Given the description of an element on the screen output the (x, y) to click on. 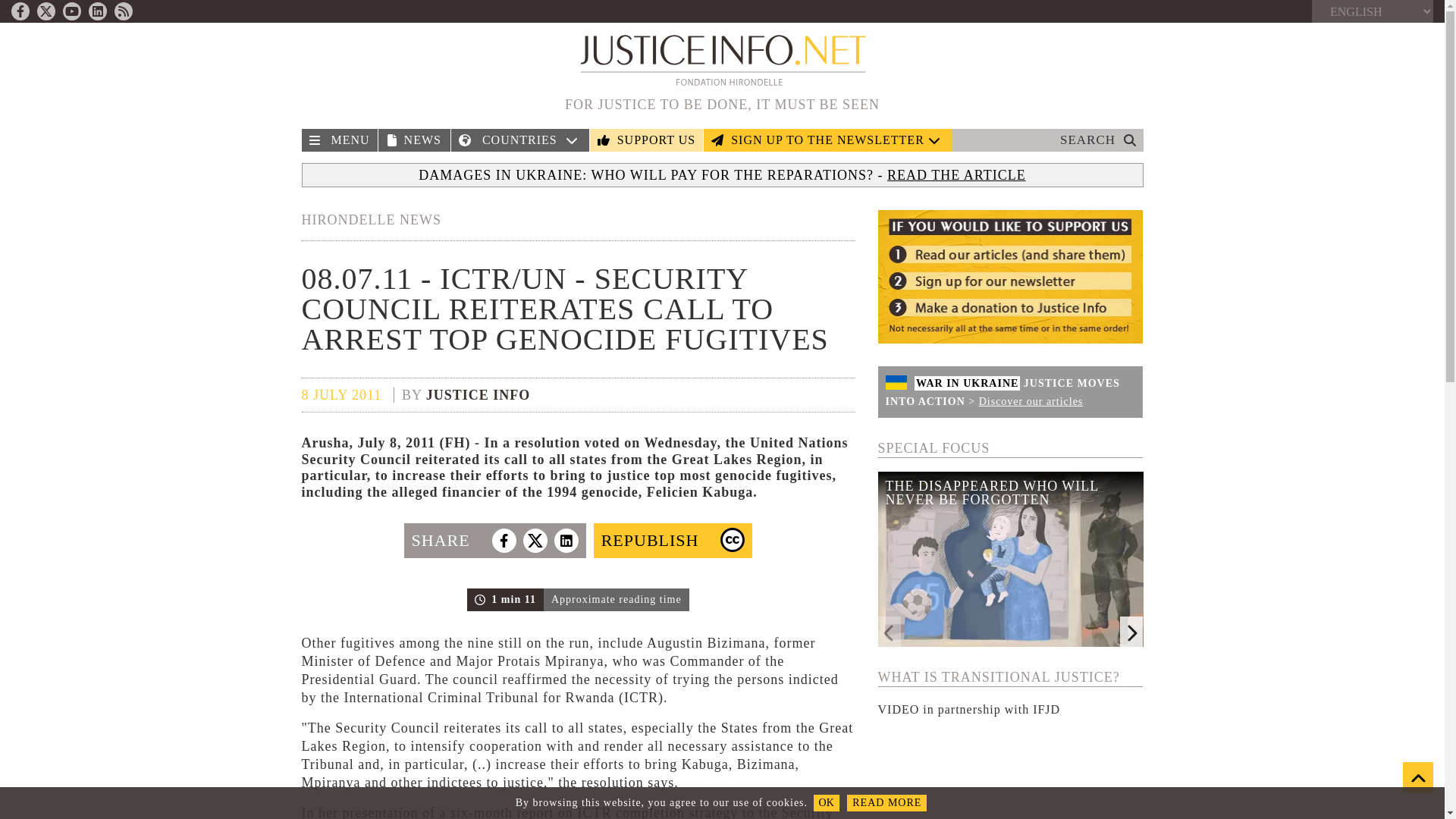
LinkedIn (97, 11)
Twitter (46, 11)
Youtube (71, 11)
RSS (123, 11)
READ MORE (886, 802)
OK (826, 802)
Facebook (20, 11)
